Given the description of an element on the screen output the (x, y) to click on. 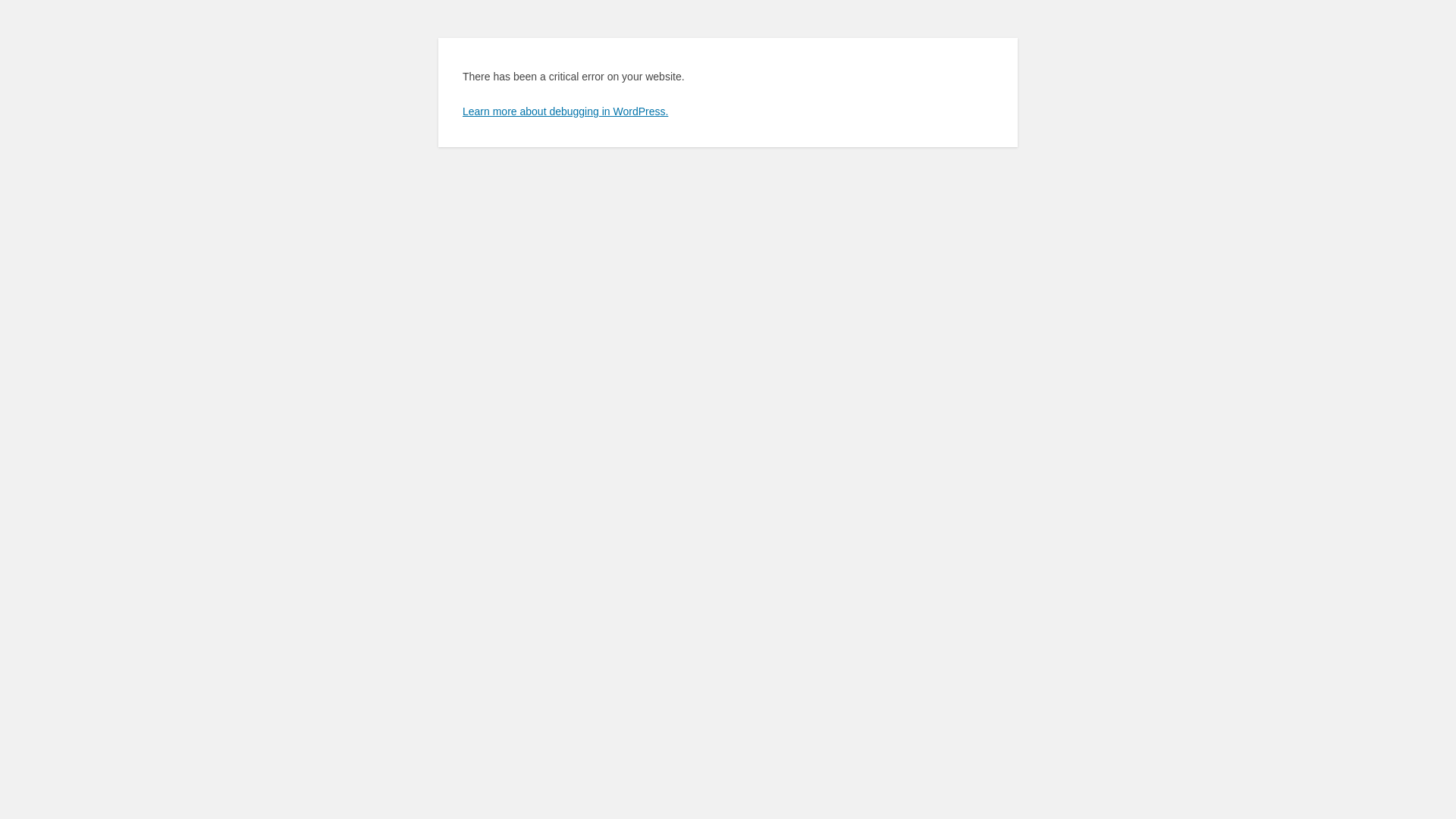
Learn more about debugging in WordPress. Element type: text (565, 111)
